Given the description of an element on the screen output the (x, y) to click on. 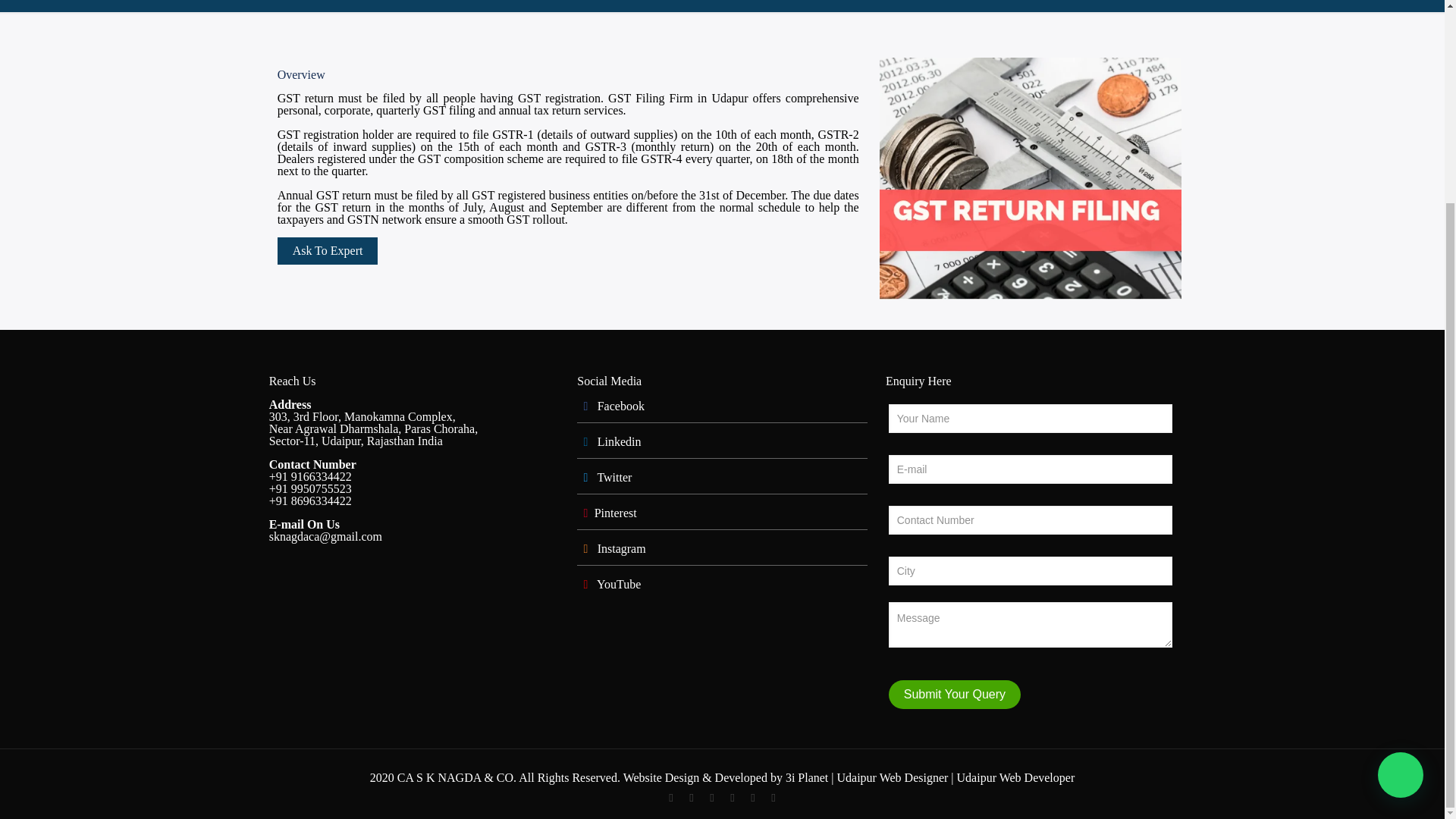
Instagram (772, 797)
Submit Your Query (954, 694)
YouTube (711, 797)
LinkedIn (731, 797)
Facebook (670, 797)
Twitter (690, 797)
Pinterest (752, 797)
